Given the description of an element on the screen output the (x, y) to click on. 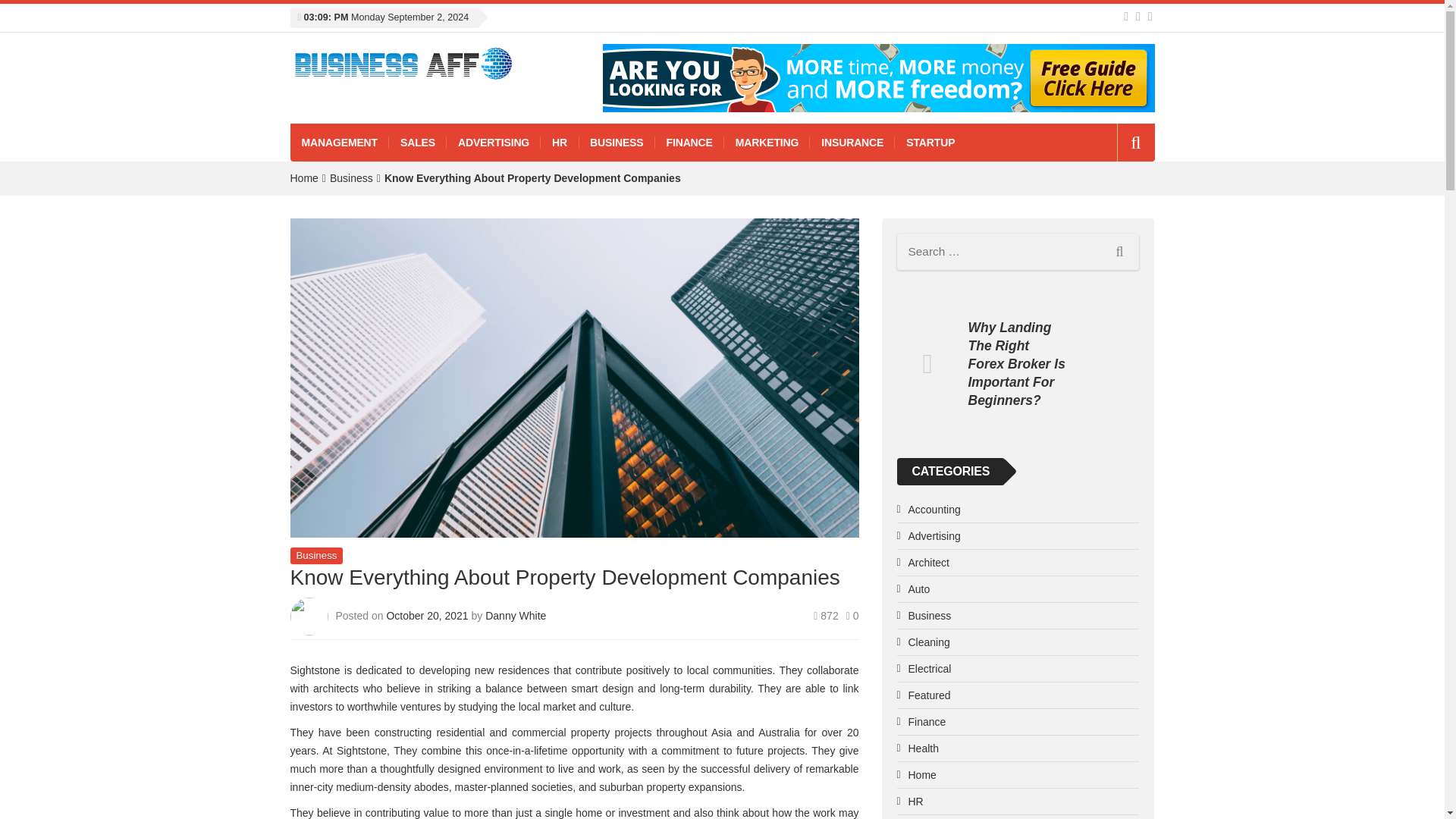
MARKETING (766, 142)
SALES (417, 142)
ADVERTISING (493, 142)
FINANCE (689, 142)
HR (559, 142)
INSURANCE (852, 142)
MANAGEMENT (338, 142)
Home (303, 177)
Business (315, 555)
0 (852, 615)
